Given the description of an element on the screen output the (x, y) to click on. 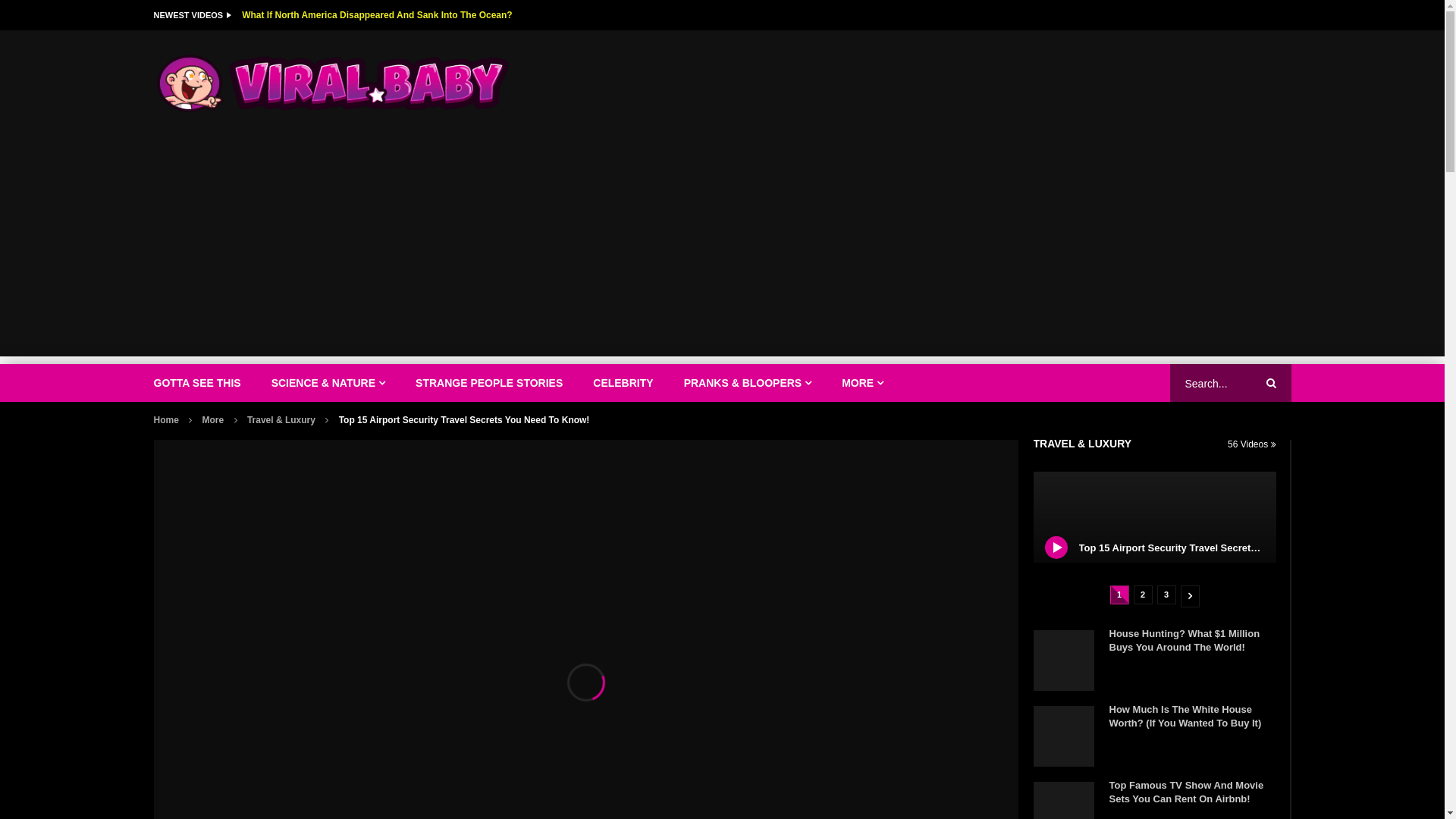
STRANGE PEOPLE STORIES Element type: text (488, 382)
Search Element type: text (1270, 382)
How Much Is The White House Worth? (If You Wanted To Buy It) Element type: hover (1062, 736)
How Much Is The White House Worth? (If You Wanted To Buy It) Element type: text (1184, 715)
More Element type: text (213, 419)
CELEBRITY Element type: text (622, 382)
Top 15 Airport Security Travel Secrets You Need To Know! Element type: hover (1153, 516)
House Hunting? What $1 Million Buys You Around The World! Element type: hover (1062, 660)
MORE Element type: text (862, 382)
56 Videos Element type: text (1251, 444)
Viral.Baby Element type: hover (333, 83)
Home Element type: text (165, 419)
PRANKS & BLOOPERS Element type: text (747, 382)
SCIENCE & NATURE Element type: text (328, 382)
House Hunting? What $1 Million Buys You Around The World! Element type: text (1183, 639)
Travel & Luxury Element type: text (281, 419)
Top Famous TV Show And Movie Sets You Can Rent On Airbnb! Element type: text (1185, 791)
Advertisement Element type: hover (721, 250)
What If North America Disappeared And Sank Into The Ocean? Element type: text (376, 15)
Top 15 Airport Security Travel Secrets You Need To Know! Element type: text (1213, 547)
3 Element type: text (1166, 594)
GOTTA SEE THIS Element type: text (196, 382)
2 Element type: text (1141, 594)
